Given the description of an element on the screen output the (x, y) to click on. 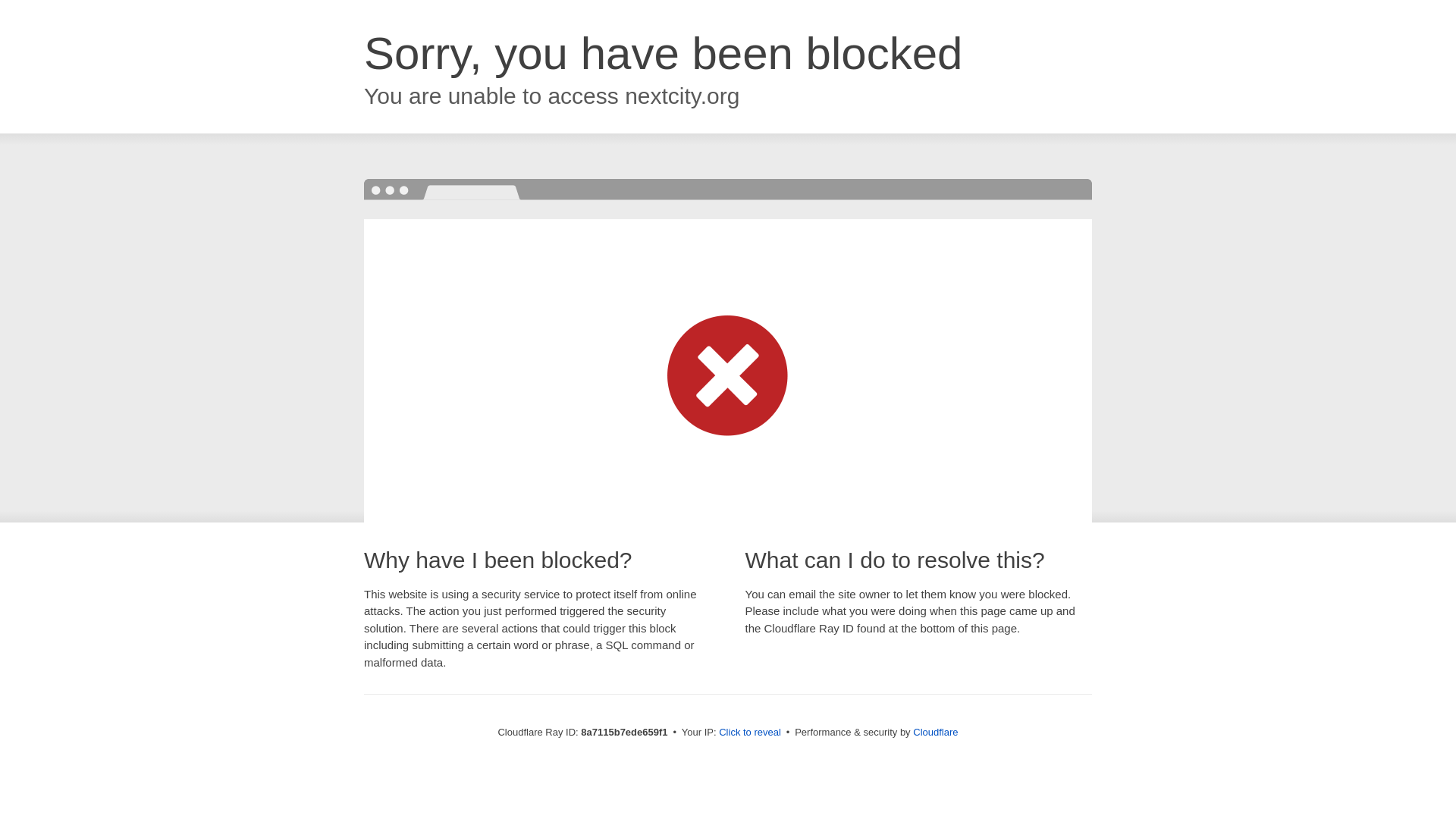
Cloudflare (935, 731)
Click to reveal (749, 732)
